Given the description of an element on the screen output the (x, y) to click on. 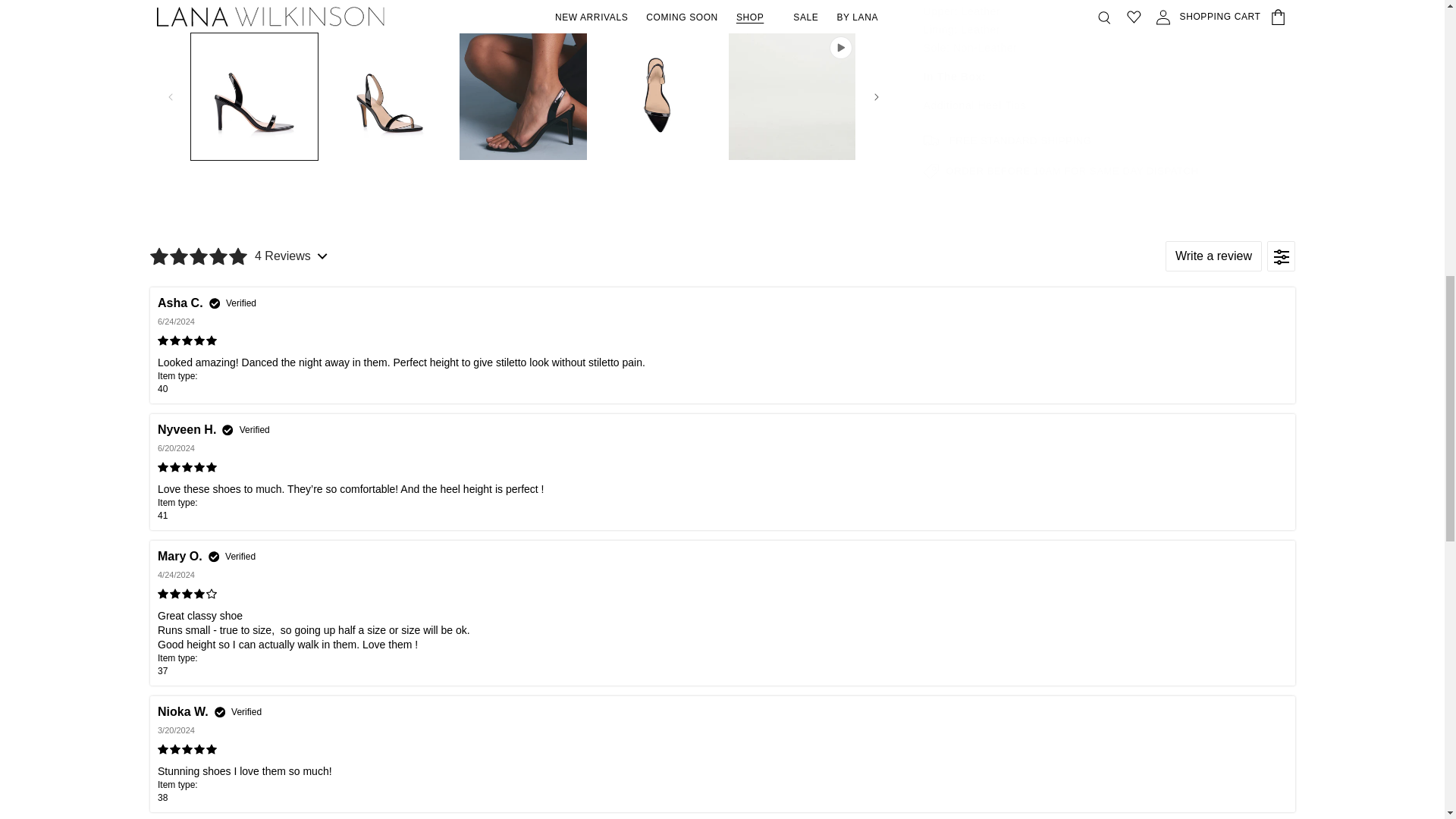
Open media 1 in modal (522, 7)
